Given the description of an element on the screen output the (x, y) to click on. 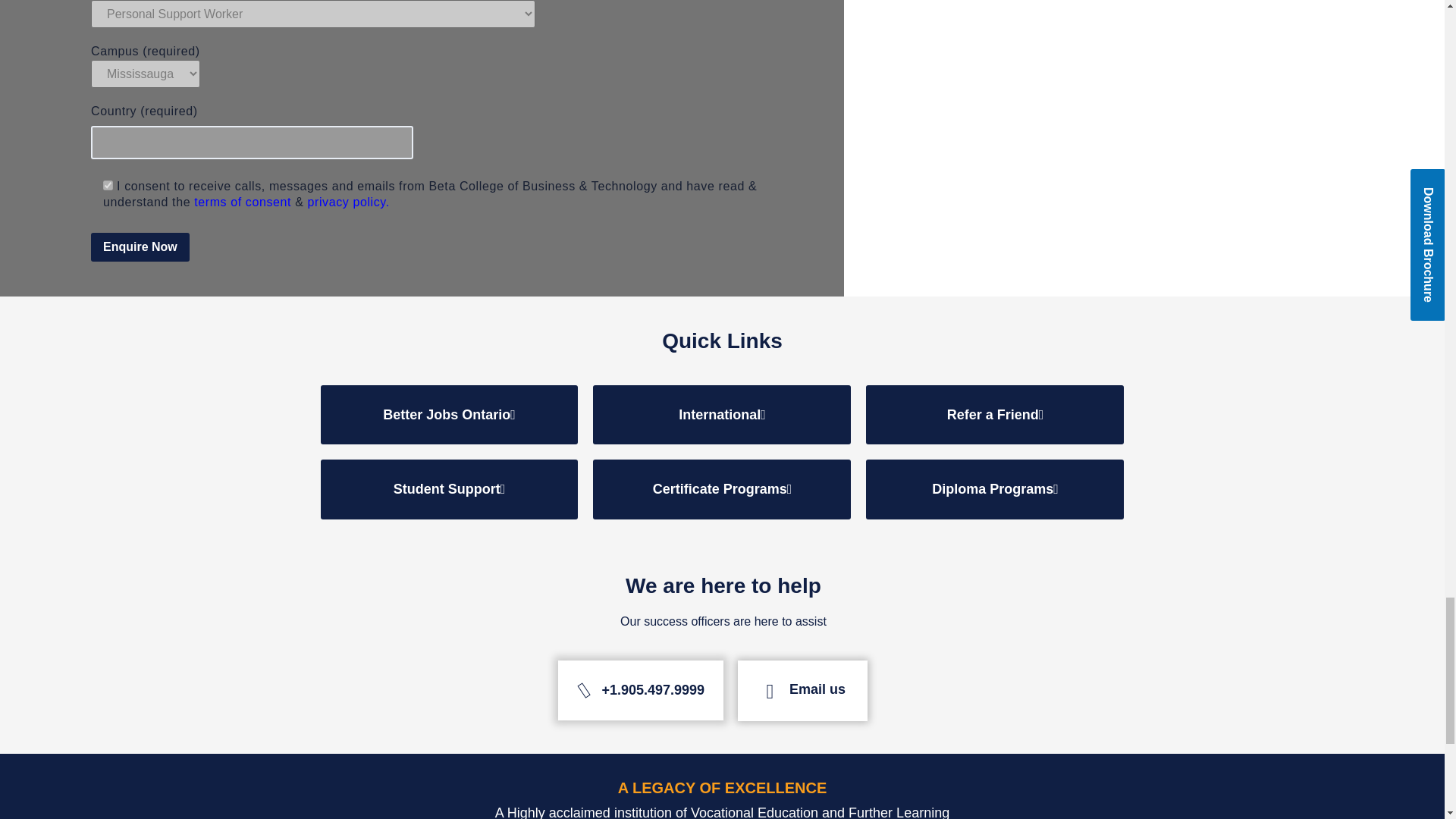
Enquire Now (139, 246)
beta college canada (1142, 78)
1 (108, 185)
